Given the description of an element on the screen output the (x, y) to click on. 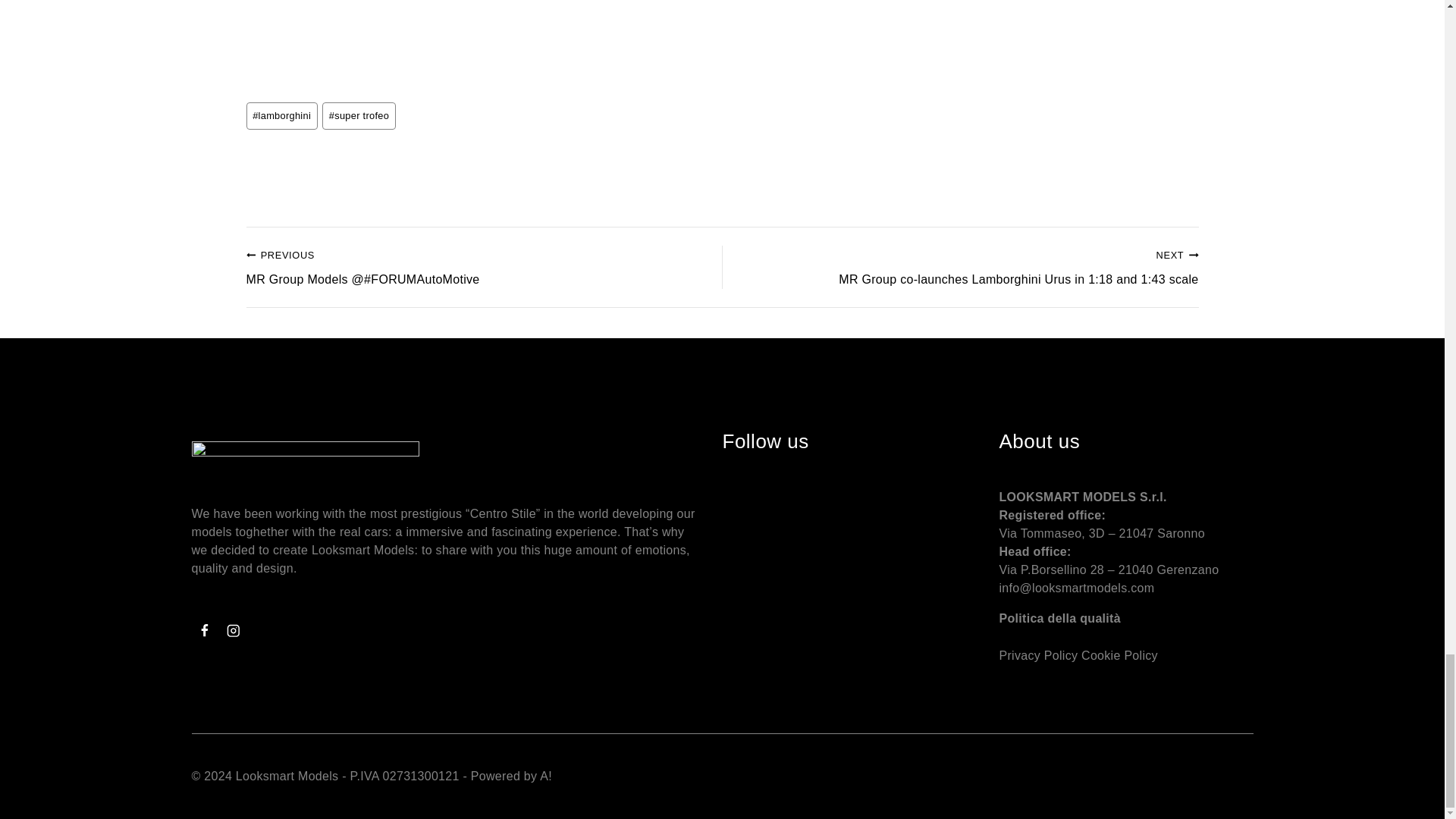
lamborghini (281, 115)
super trofeo (358, 115)
Privacy Policy  (1038, 655)
Cookie Policy  (1119, 655)
